Given the description of an element on the screen output the (x, y) to click on. 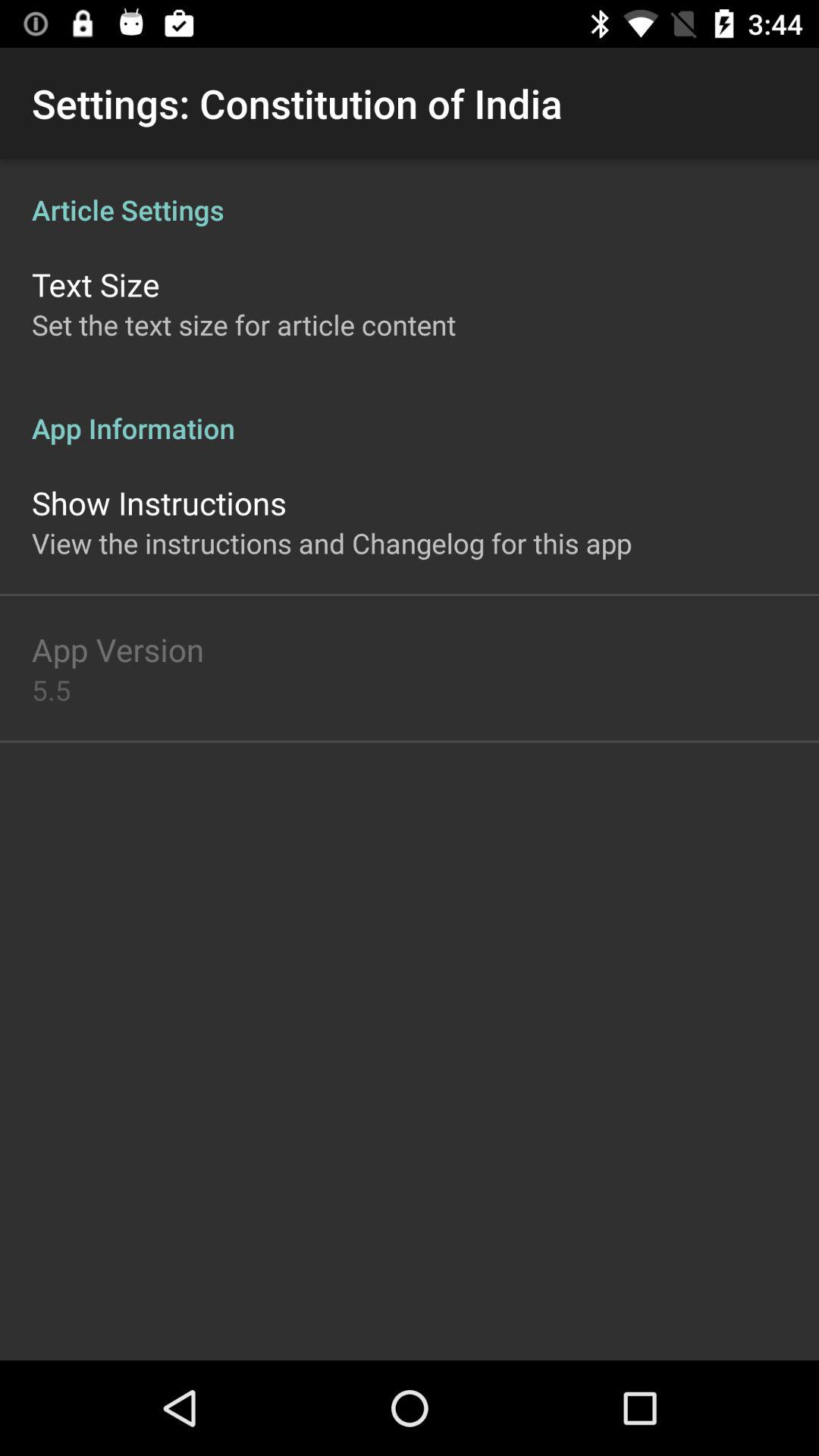
tap item above the app information (243, 324)
